Given the description of an element on the screen output the (x, y) to click on. 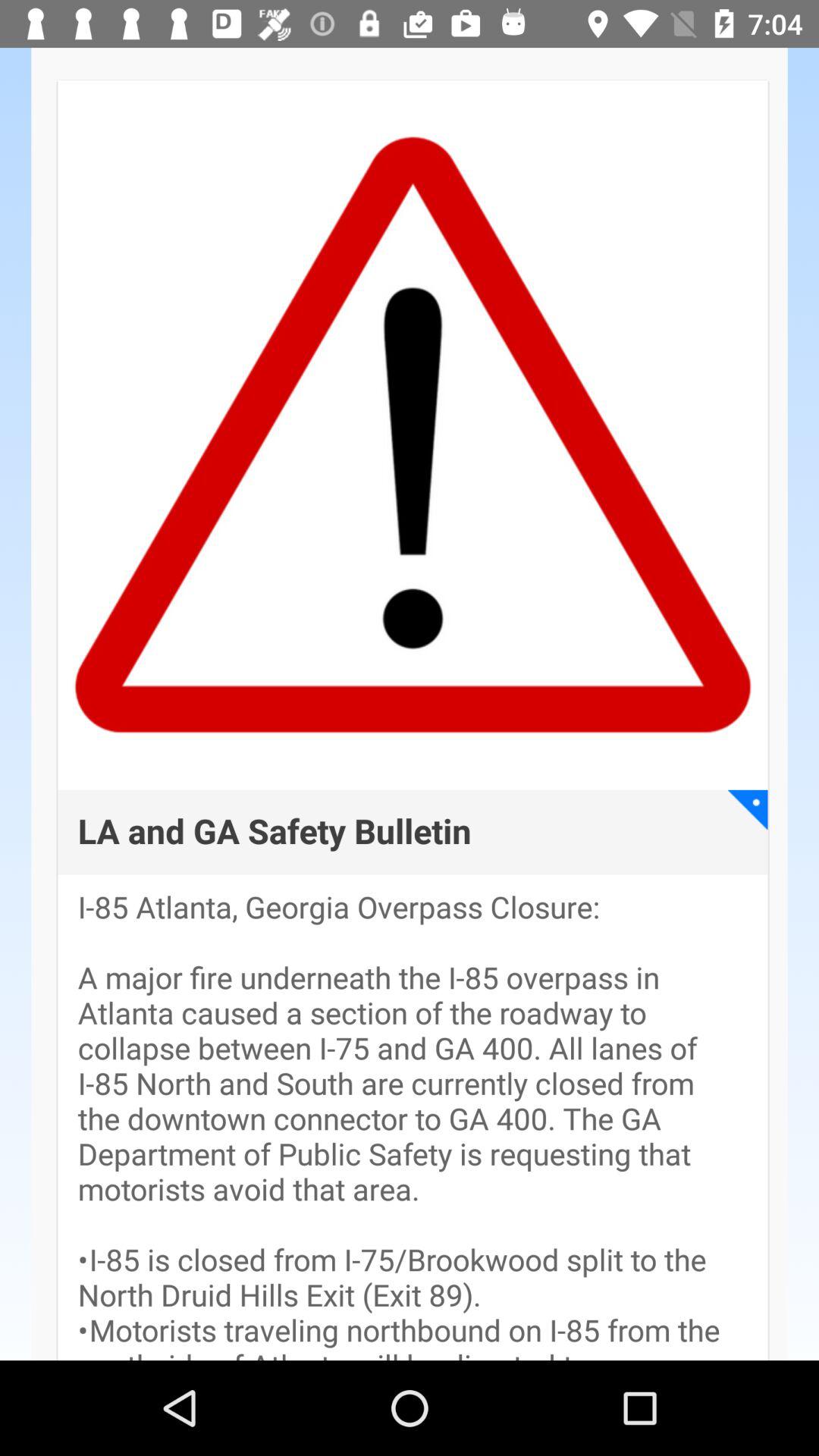
flip until la and ga icon (274, 832)
